Given the description of an element on the screen output the (x, y) to click on. 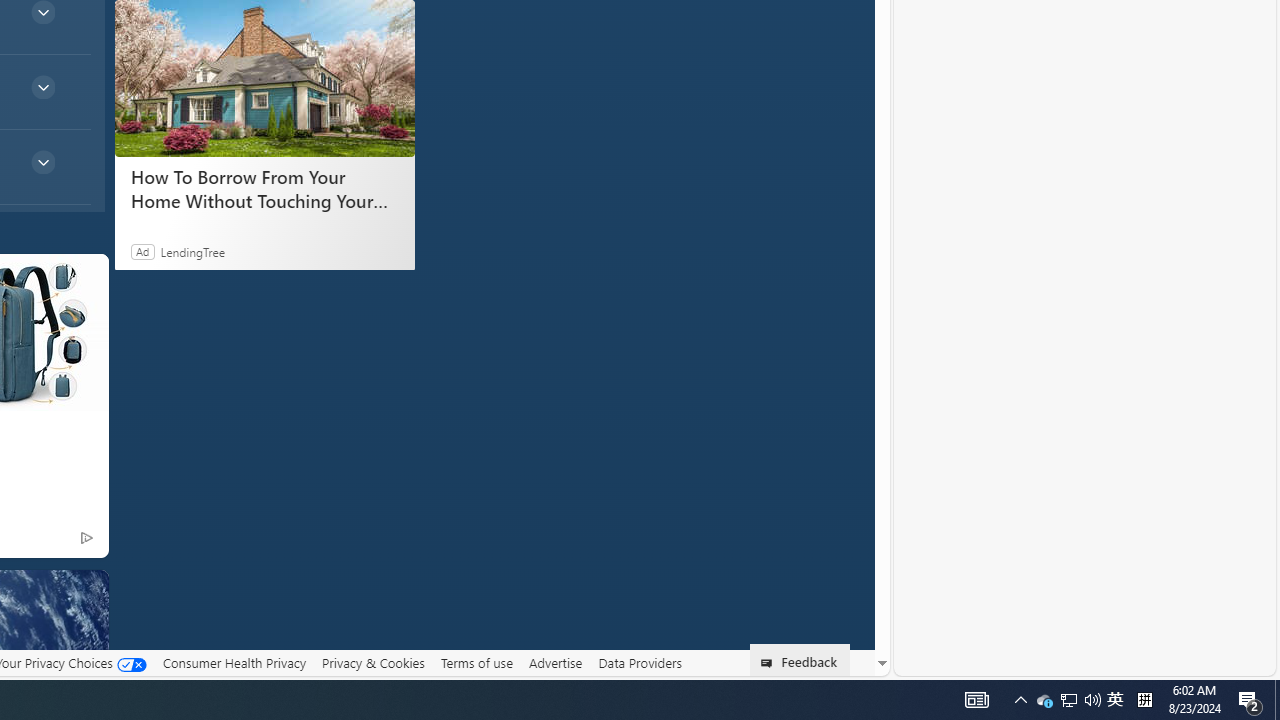
Class: feedback_link_icon-DS-EntryPoint1-1 (770, 663)
